Given the description of an element on the screen output the (x, y) to click on. 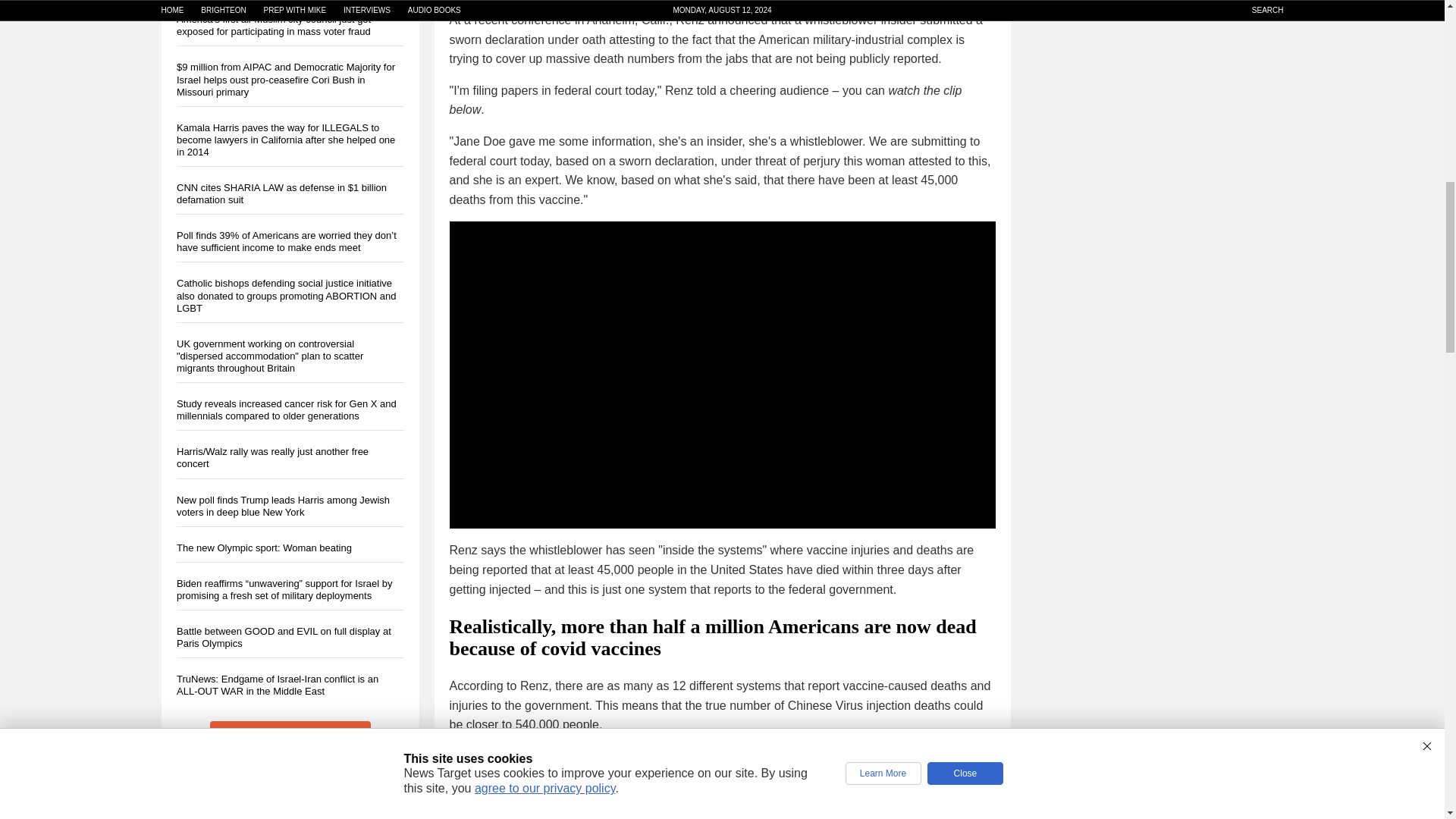
The new Olympic sport: Woman beating (263, 547)
